Given the description of an element on the screen output the (x, y) to click on. 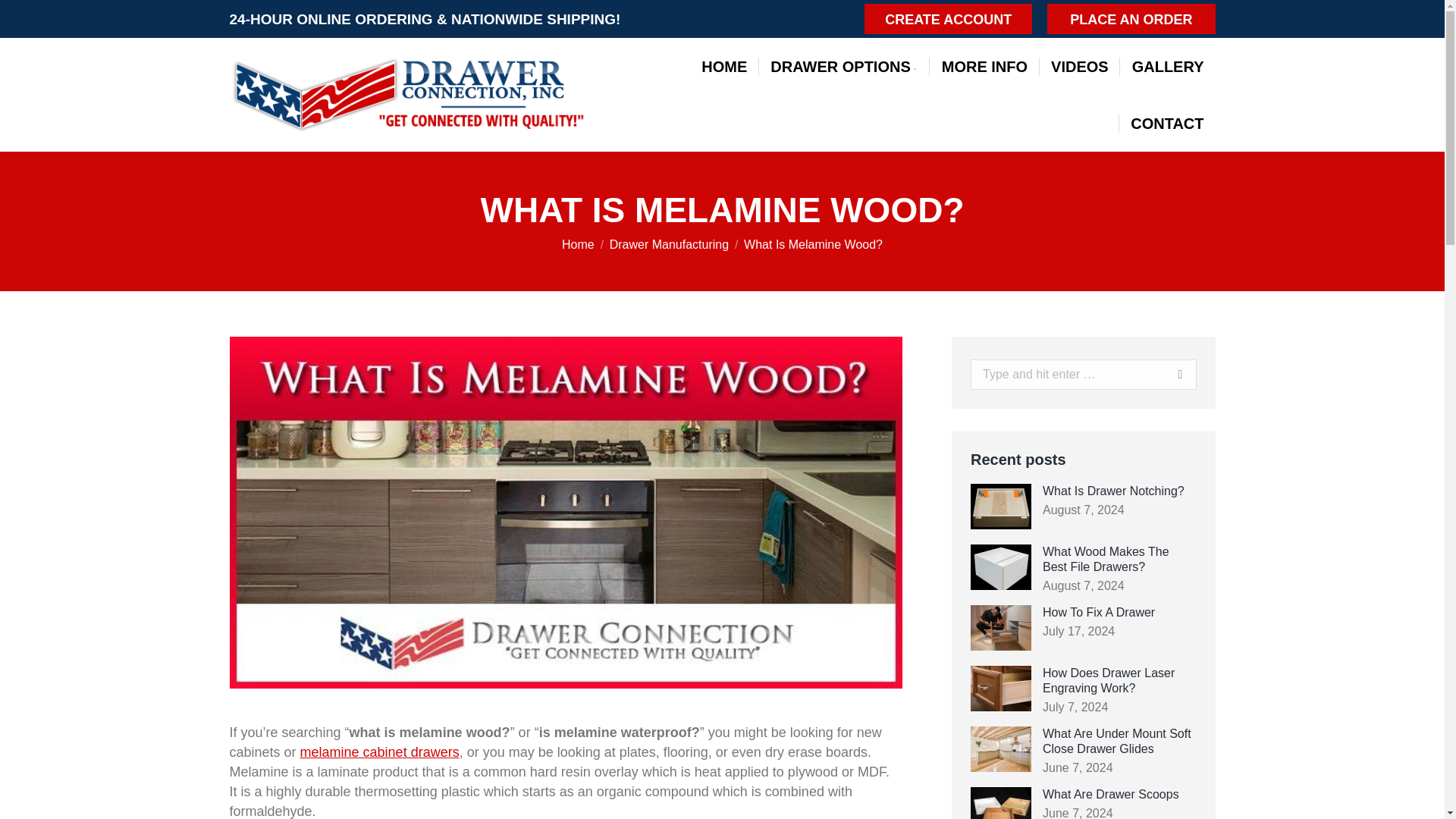
CREATE ACCOUNT (948, 19)
Home (578, 244)
Drawer Manufacturing (669, 244)
VIDEOS (1079, 66)
CONTACT (1166, 122)
GALLERY (1168, 66)
HOME (724, 66)
Home (578, 244)
melamine cabinet drawers (379, 752)
Go! (1164, 374)
